Given the description of an element on the screen output the (x, y) to click on. 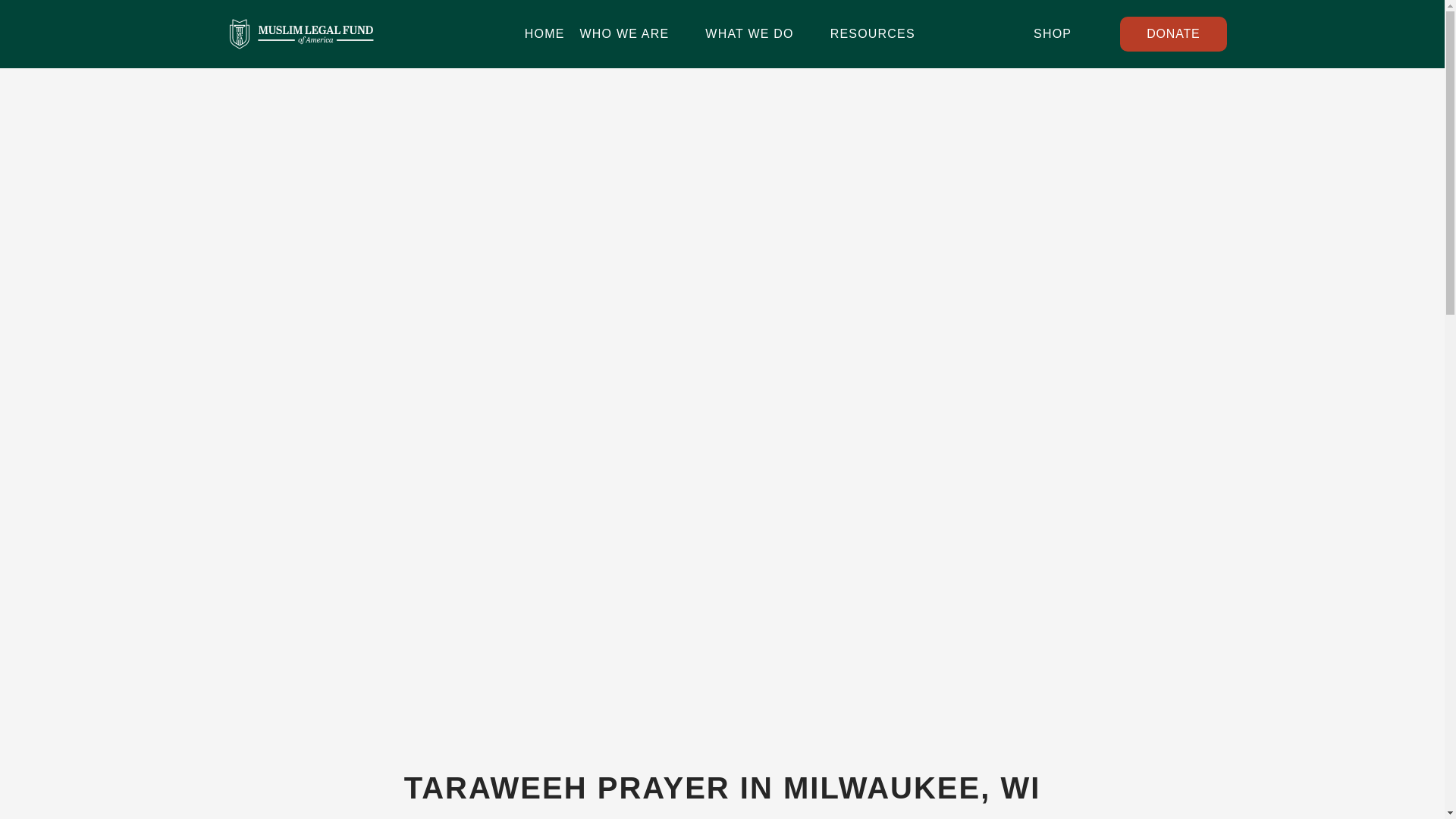
WHAT WE DO (758, 33)
WHO WE ARE (634, 33)
RESOURCES (882, 33)
DONATE (1172, 33)
SHOP (1066, 33)
